Given the description of an element on the screen output the (x, y) to click on. 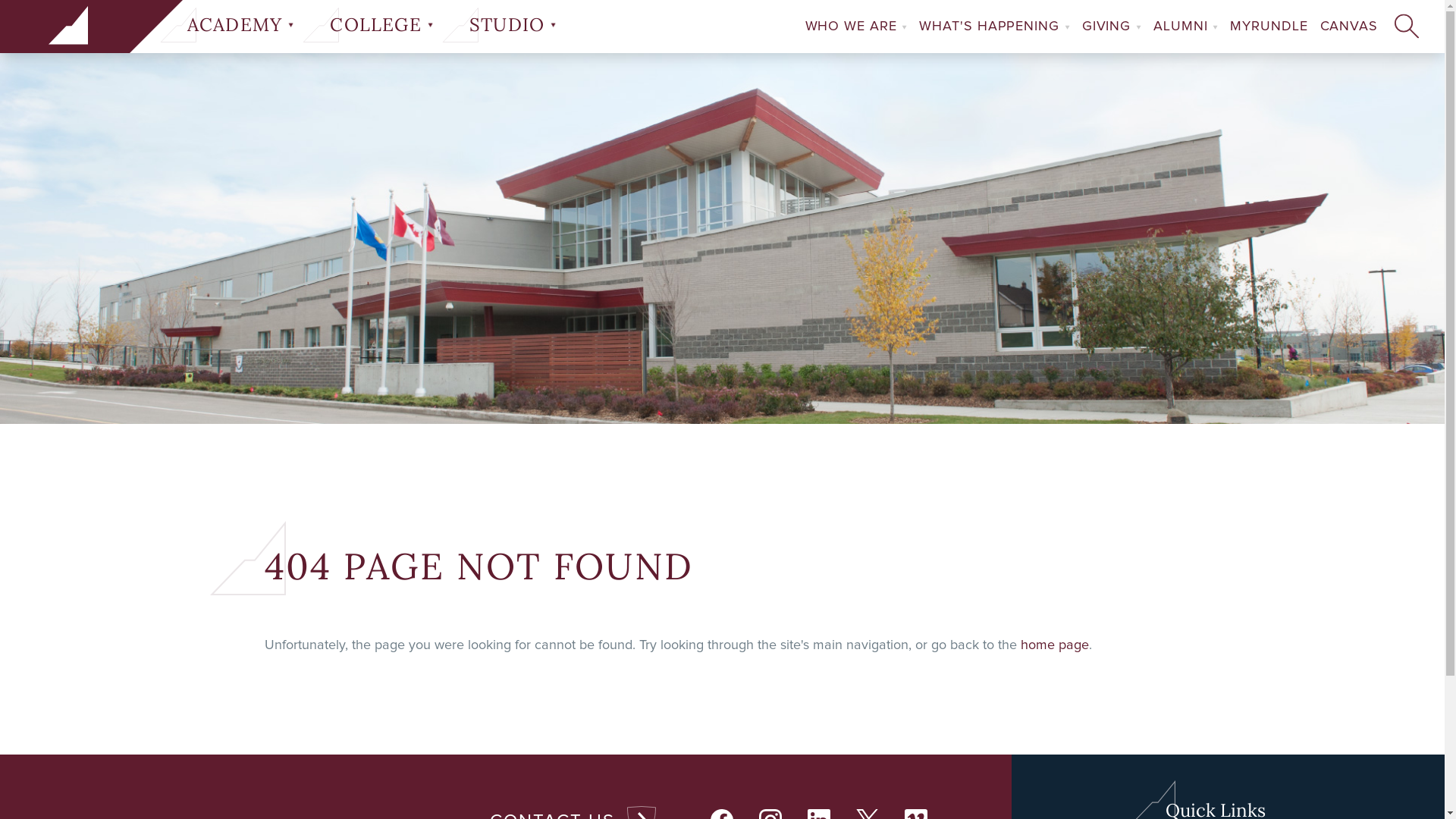
STUDIO Element type: text (512, 24)
CANVAS Element type: text (1355, 26)
home page Element type: text (1054, 645)
WHO WE ARE Element type: text (862, 26)
ALUMNI Element type: text (1191, 26)
MYRUNDLE Element type: text (1274, 26)
GIVING Element type: text (1117, 26)
ACADEMY Element type: text (240, 24)
WHAT'S HAPPENING Element type: text (1000, 26)
COLLEGE Element type: text (381, 24)
